Given the description of an element on the screen output the (x, y) to click on. 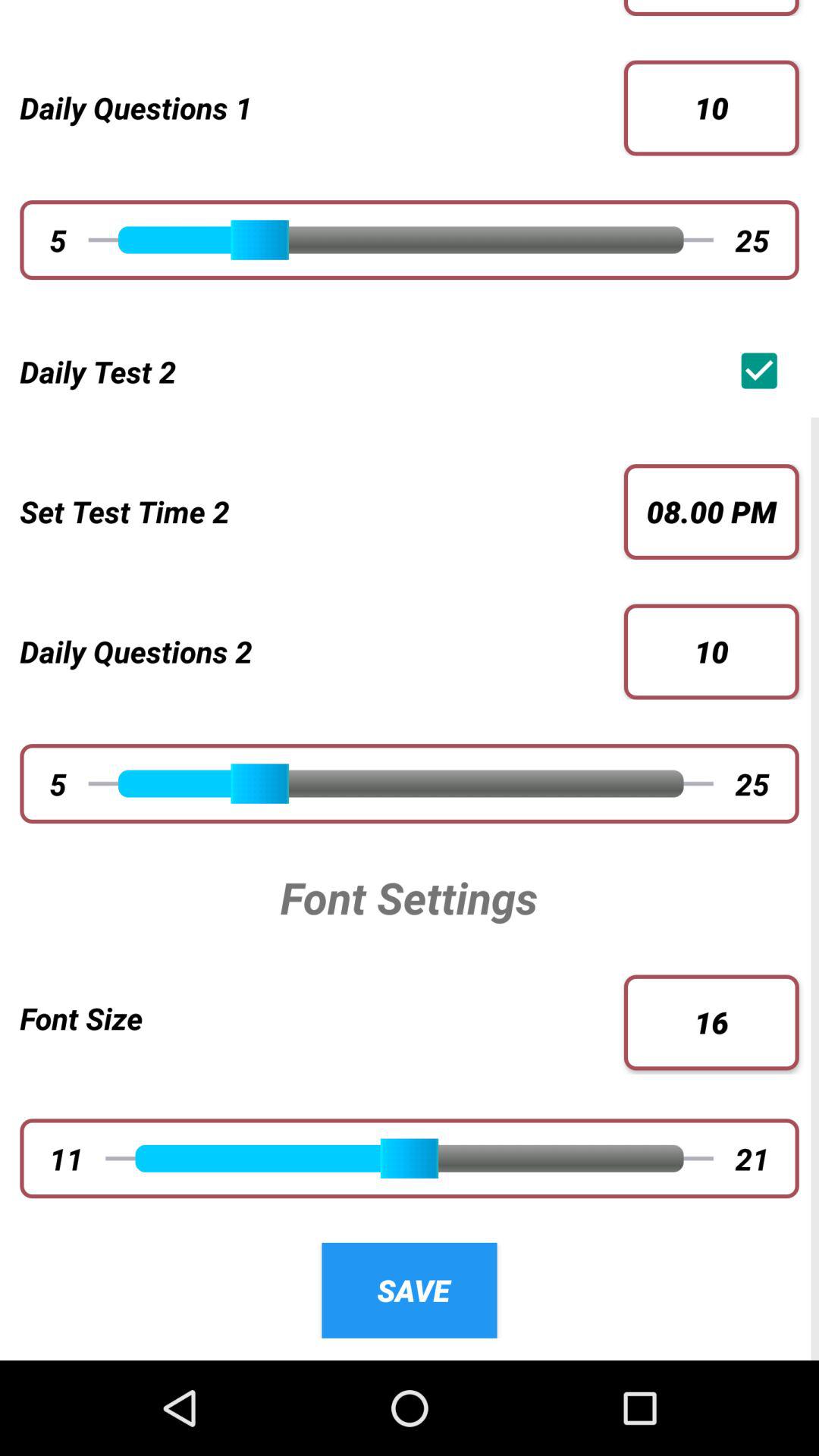
turn off app above the 11 app (321, 1018)
